Given the description of an element on the screen output the (x, y) to click on. 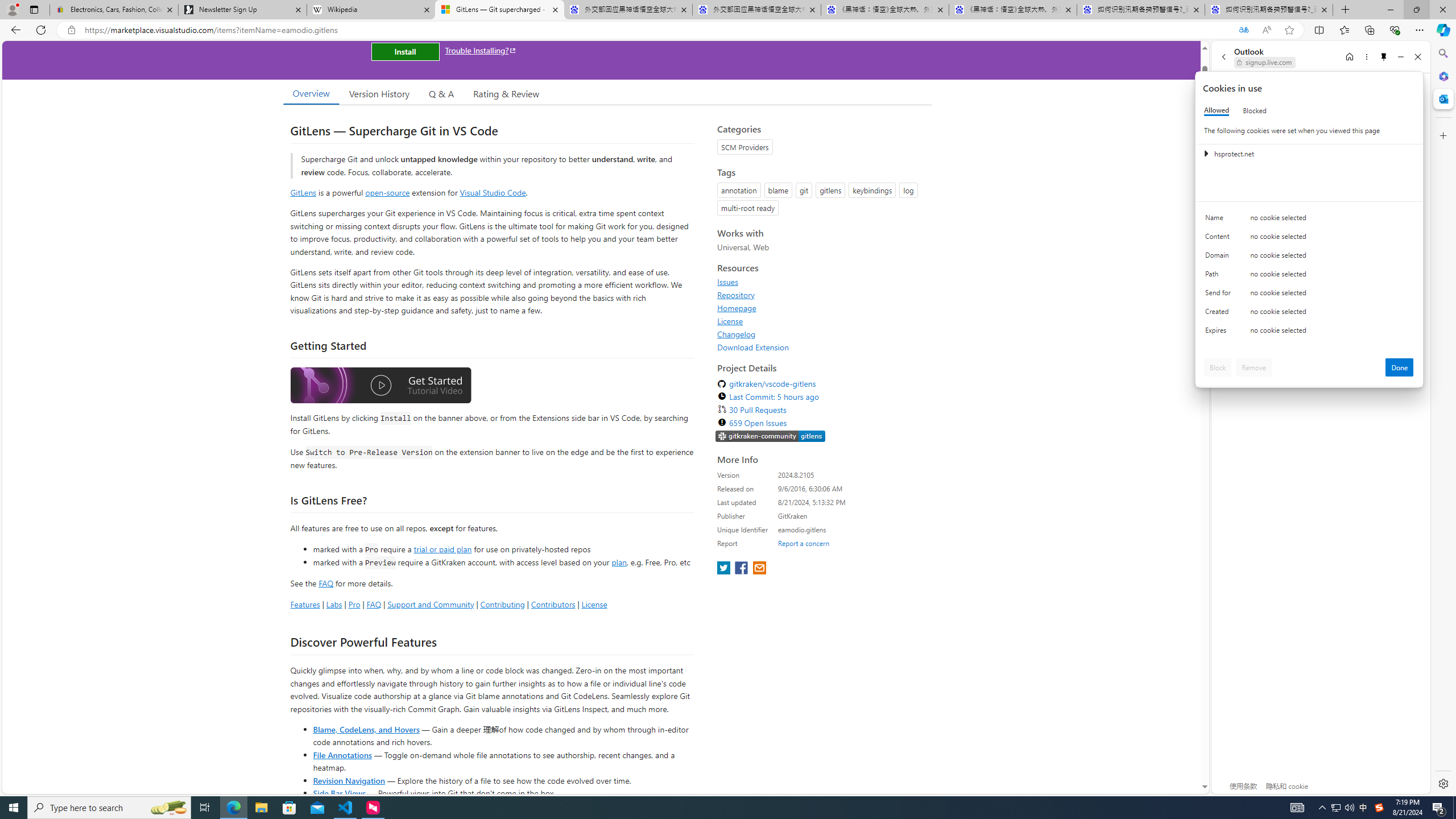
Done (1399, 367)
Content (1219, 239)
Class: c0153 c0157 (1309, 332)
Domain (1219, 257)
Allowed (1216, 110)
Remove (1253, 367)
Name (1219, 220)
Block (1217, 367)
Send for (1219, 295)
Class: c0153 c0157 c0154 (1309, 220)
Expires (1219, 332)
no cookie selected (1331, 332)
Blocked (1255, 110)
Path (1219, 276)
Created (1219, 313)
